Given the description of an element on the screen output the (x, y) to click on. 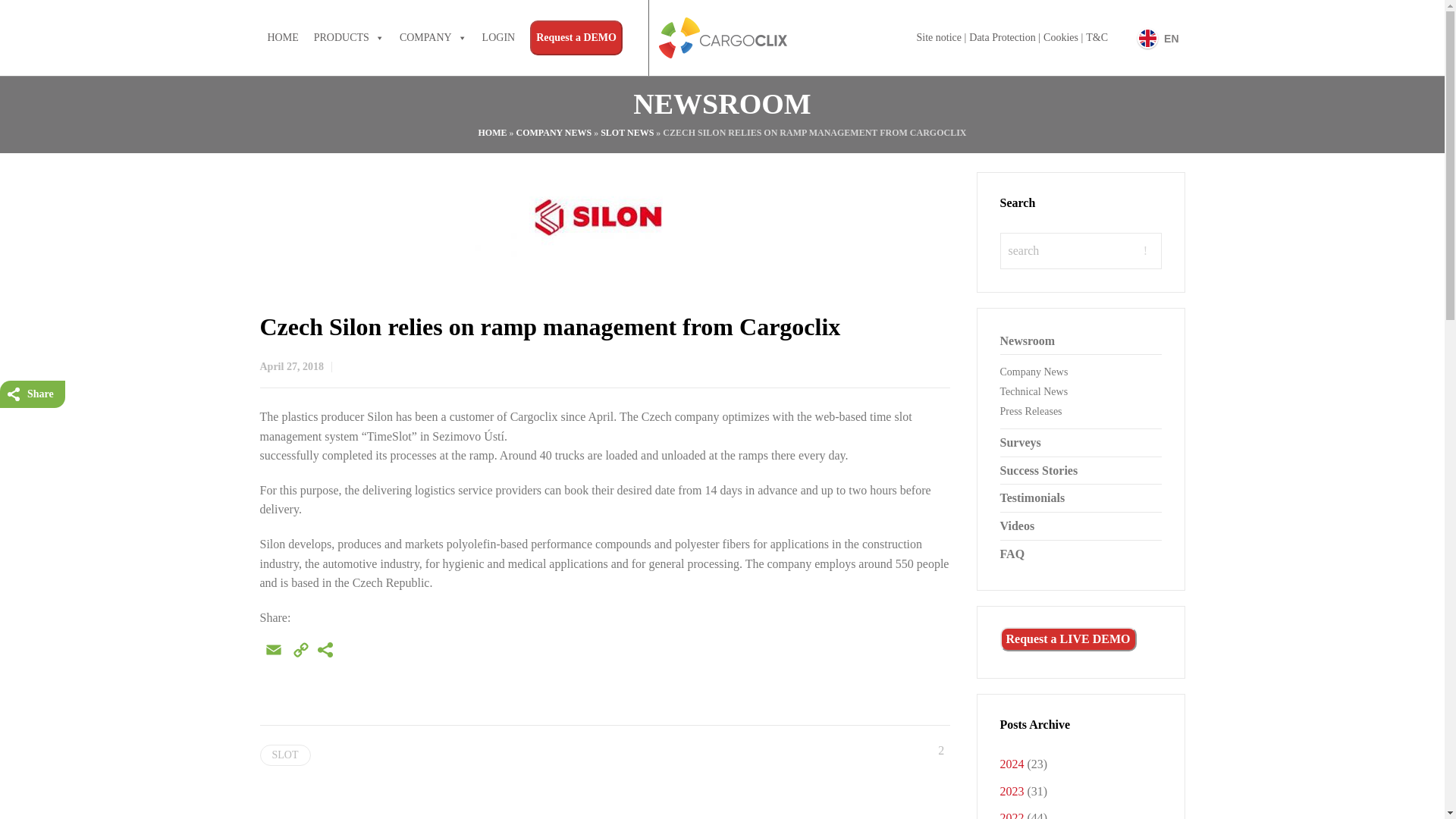
LOGIN (498, 37)
Switch the language (1158, 37)
Cargoclix (722, 38)
Request a DEMO (576, 37)
Enlarge Image (604, 216)
Copy Link (300, 653)
Email (272, 653)
PRODUCTS (348, 37)
Request a DEMO (576, 37)
COMPANY (432, 37)
HOME (282, 37)
